Given the description of an element on the screen output the (x, y) to click on. 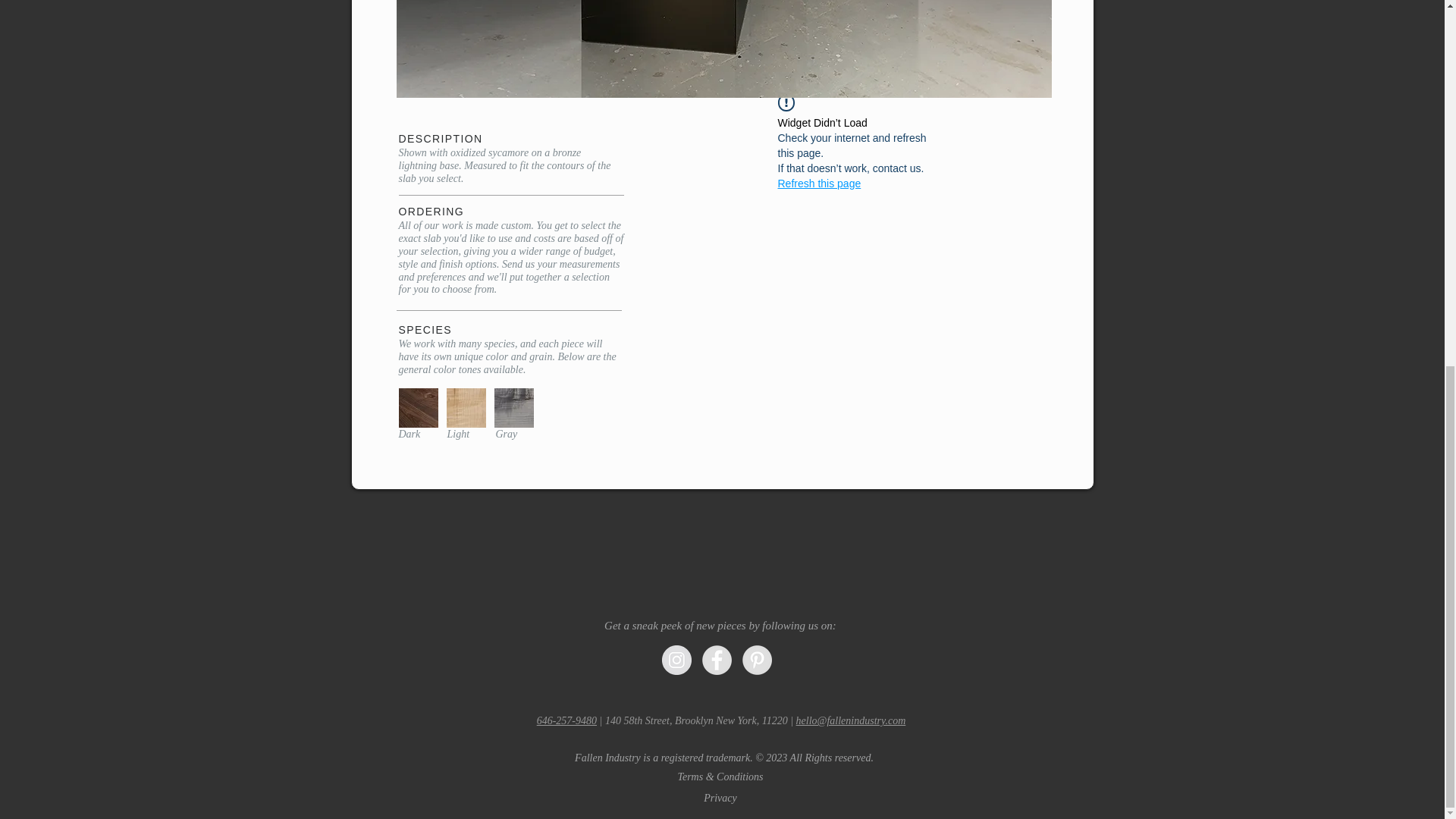
Refresh this page (819, 183)
Privacy (719, 798)
SHOWN IN OXIDIED SYCAMORE (723, 48)
646-257-9480 (566, 720)
